Given the description of an element on the screen output the (x, y) to click on. 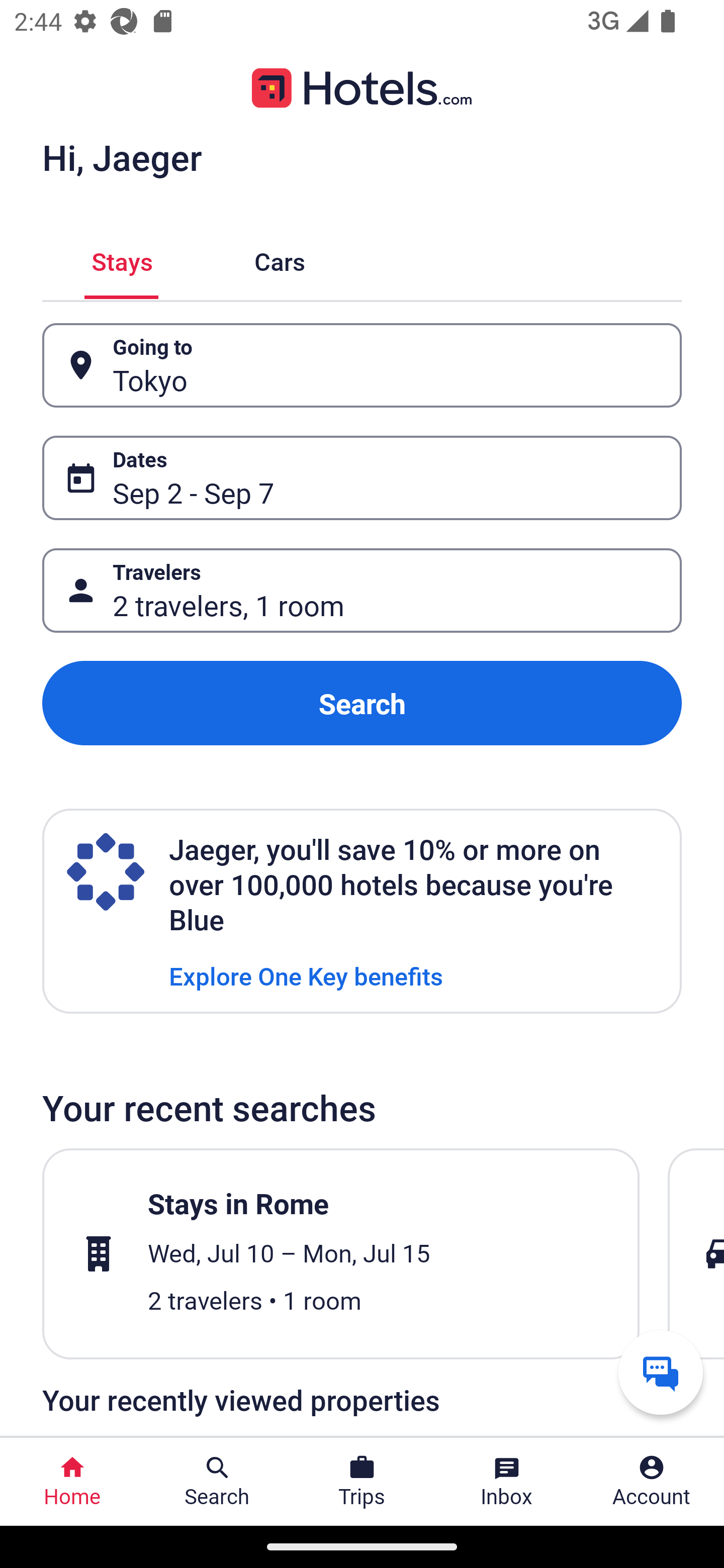
Hi, Jaeger (121, 156)
Cars (279, 259)
Going to Button Tokyo (361, 365)
Dates Button Sep 2 - Sep 7 (361, 477)
Travelers Button 2 travelers, 1 room (361, 590)
Search (361, 702)
Get help from a virtual agent (660, 1371)
Search Search Button (216, 1481)
Trips Trips Button (361, 1481)
Inbox Inbox Button (506, 1481)
Account Profile. Button (651, 1481)
